Given the description of an element on the screen output the (x, y) to click on. 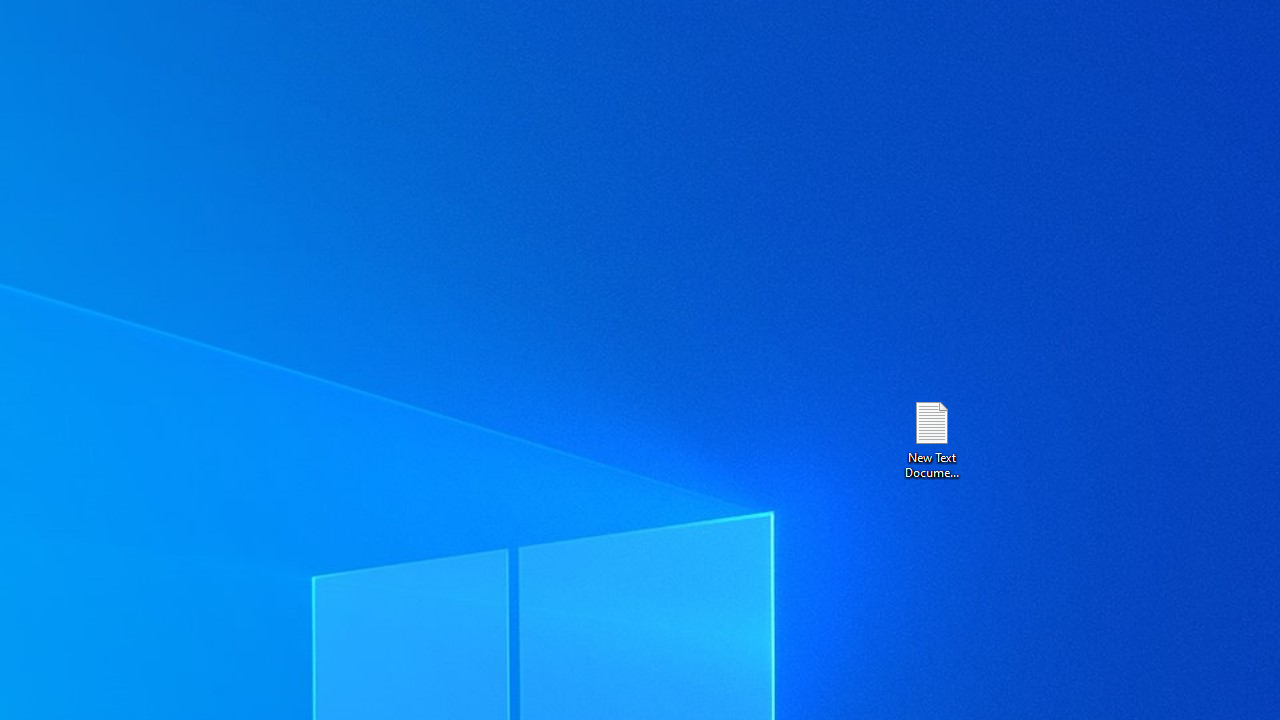
New Text Document (2) (931, 438)
